Given the description of an element on the screen output the (x, y) to click on. 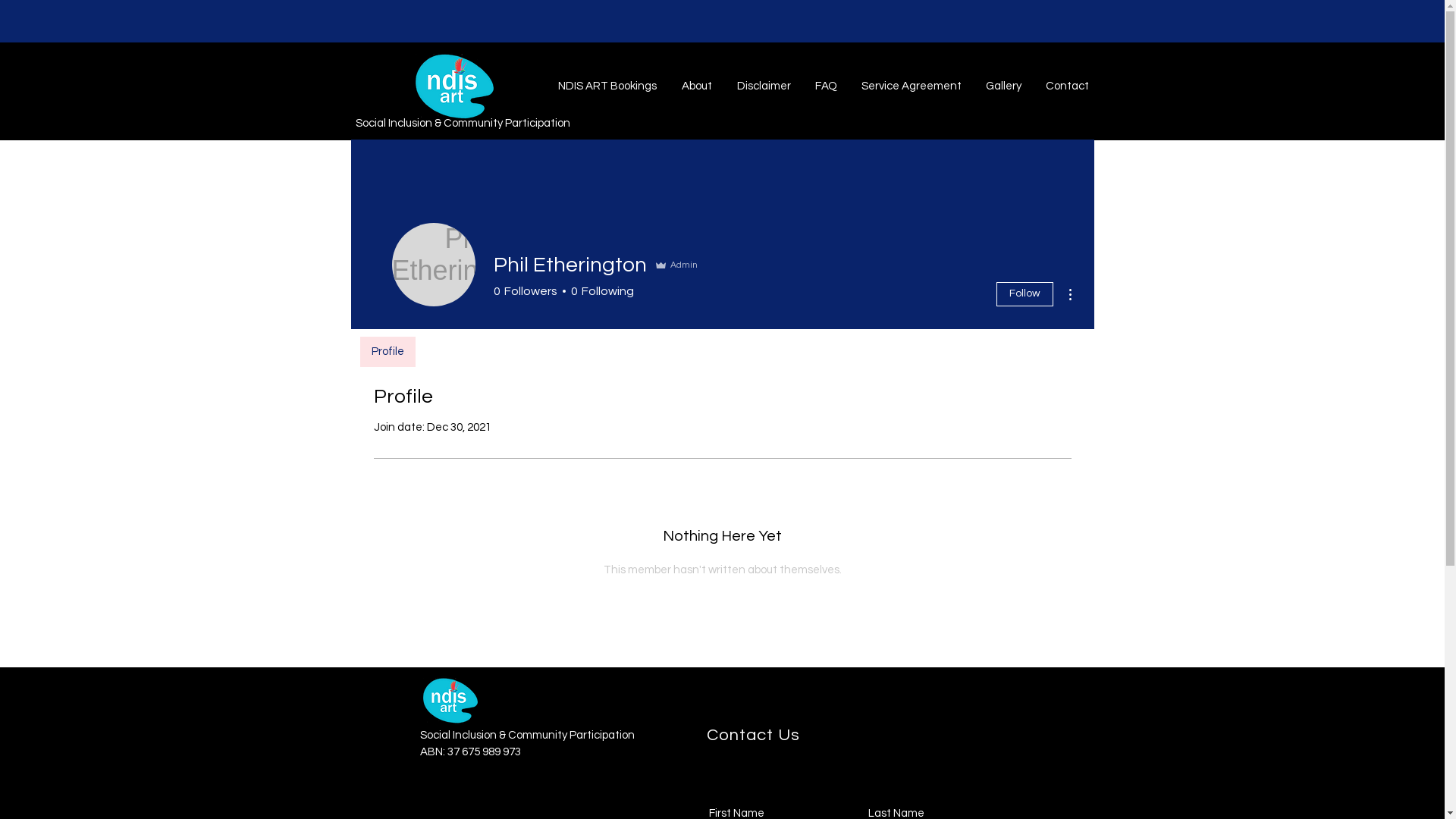
0
Followers Element type: text (524, 290)
Contact Us Element type: text (753, 734)
Profile Element type: text (386, 351)
Contact Element type: text (1058, 86)
About Element type: text (688, 86)
Service Agreement Element type: text (902, 86)
FAQ Element type: text (816, 86)
Phil Etherington Element type: hover (432, 264)
0
Following Element type: text (599, 290)
Social Inclusion & Community Participation Element type: text (527, 734)
NDIS ART Bookings Element type: text (597, 86)
Follow Element type: text (1024, 294)
Gallery Element type: text (995, 86)
Disclaimer Element type: text (754, 86)
